Given the description of an element on the screen output the (x, y) to click on. 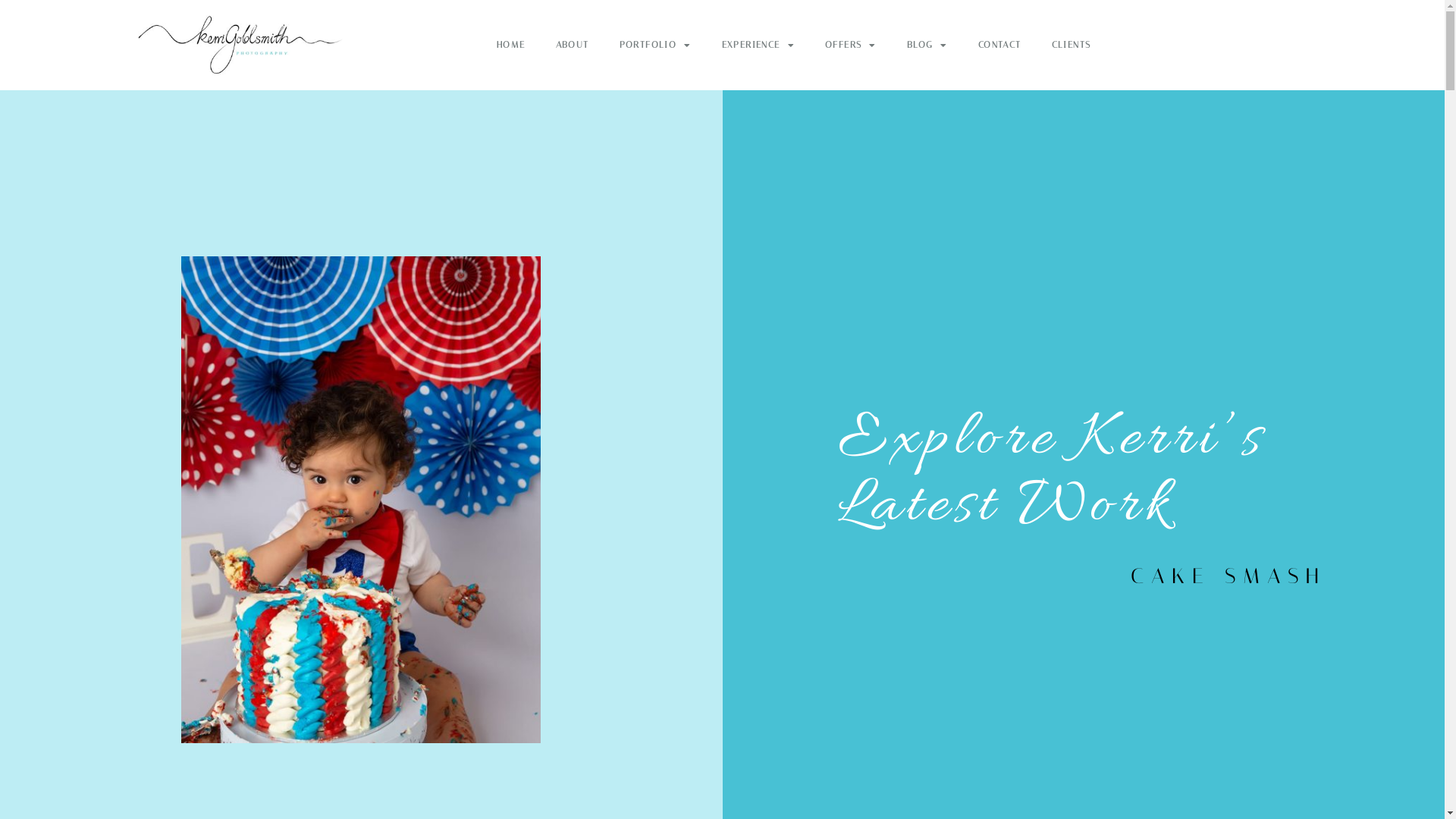
PORTFOLIO Element type: text (655, 45)
EXPERIENCE Element type: text (757, 45)
OFFERS Element type: text (850, 45)
BLOG Element type: text (927, 45)
CONTACT Element type: text (999, 45)
CLIENTS Element type: text (1071, 45)
ABOUT Element type: text (572, 45)
HOME Element type: text (510, 45)
